Given the description of an element on the screen output the (x, y) to click on. 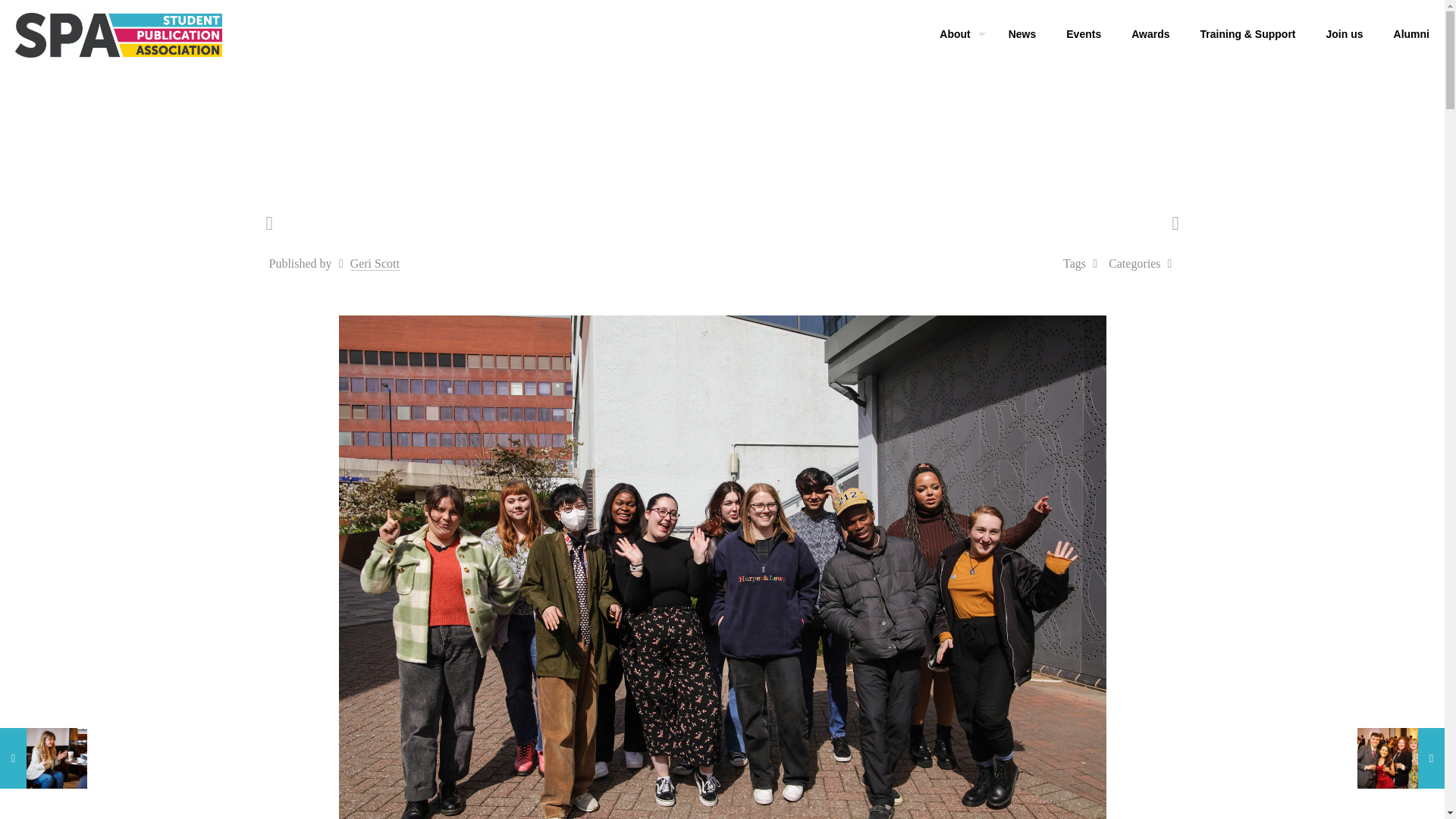
About (958, 33)
Events (1083, 33)
Awards (1150, 33)
Student Publication Association (118, 33)
Join us (1344, 33)
Geri Scott (374, 264)
